Given the description of an element on the screen output the (x, y) to click on. 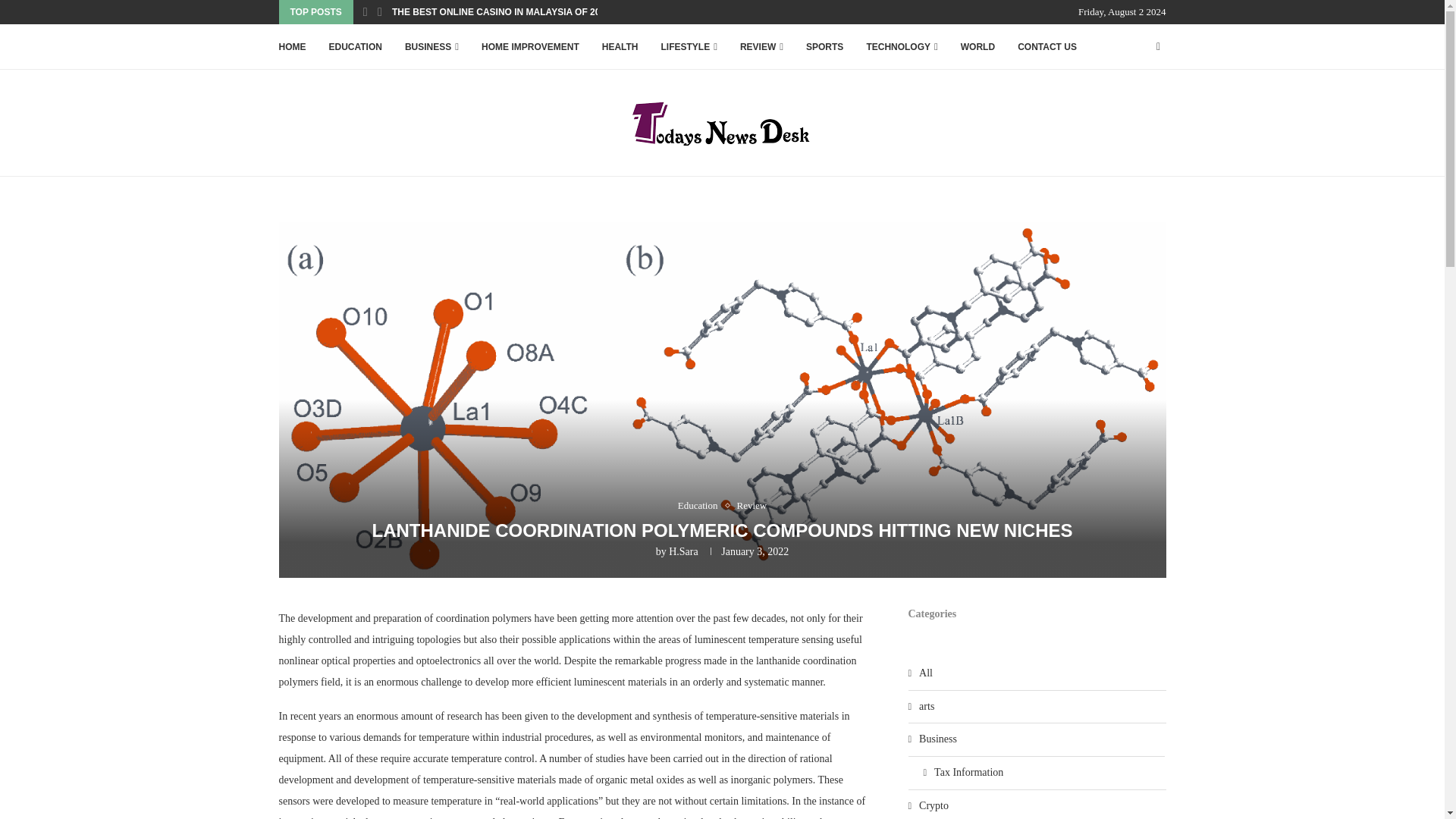
HOME IMPROVEMENT (530, 46)
BUSINESS (431, 46)
EDUCATION (355, 46)
REVIEW (761, 46)
LIFESTYLE (689, 46)
TECHNOLOGY (901, 46)
THE BEST ONLINE CASINO IN MALAYSIA OF 2024... (504, 12)
